Given the description of an element on the screen output the (x, y) to click on. 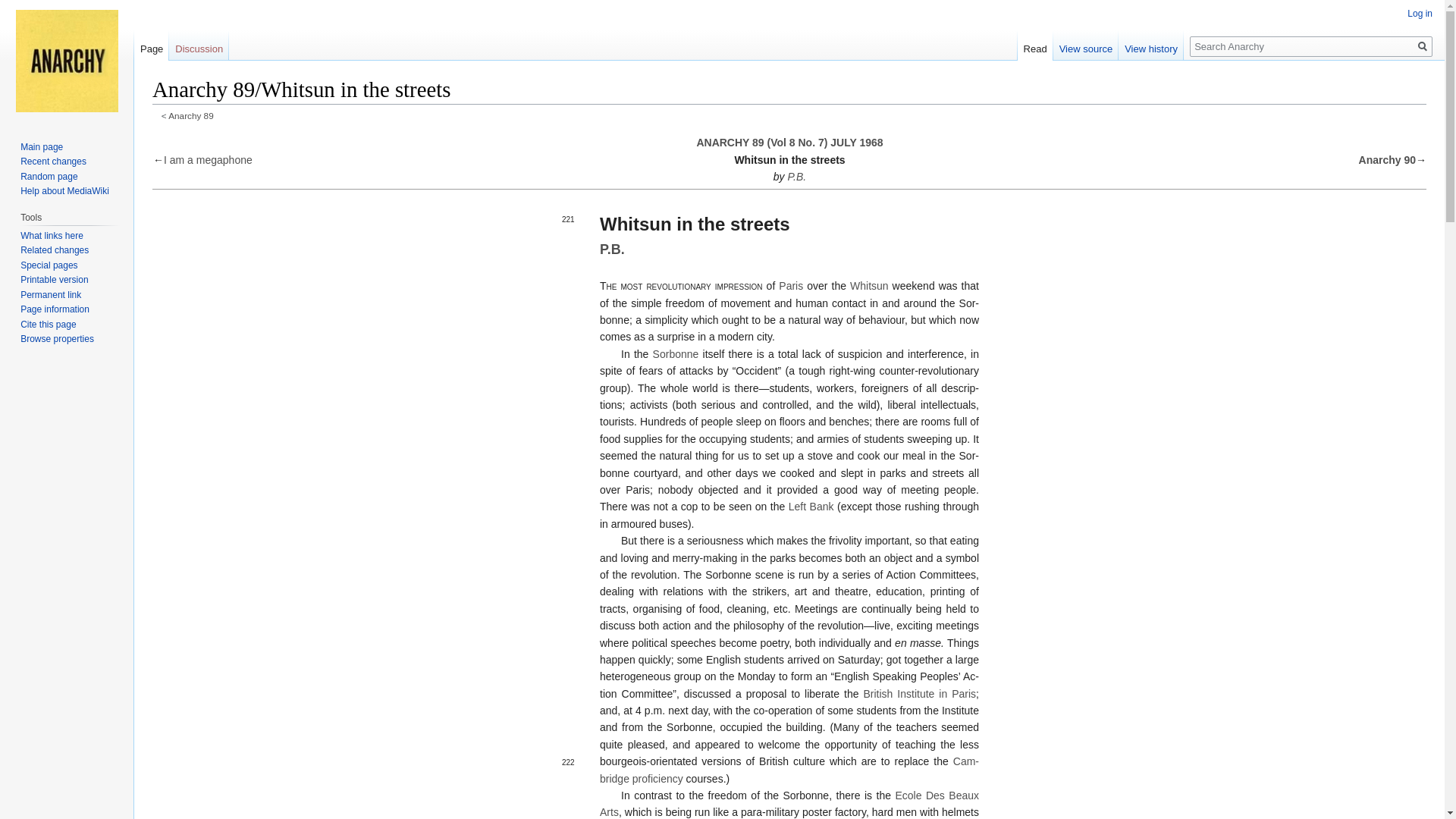
Anarchy 90 (1386, 159)
Author:P.B. (611, 249)
I am a megaphone (207, 159)
Wikipedia: Left Bank (811, 506)
Whitsun (869, 285)
Anarchy 90 (1386, 159)
Anarchy 89 (190, 115)
Anarchy 89 (788, 142)
Search (1422, 46)
Wikipedia: Whitsun (869, 285)
Anarchy 89 (190, 115)
Wikipedia: Paris (790, 285)
Go (1422, 46)
P.B. (611, 249)
Left Bank (811, 506)
